Given the description of an element on the screen output the (x, y) to click on. 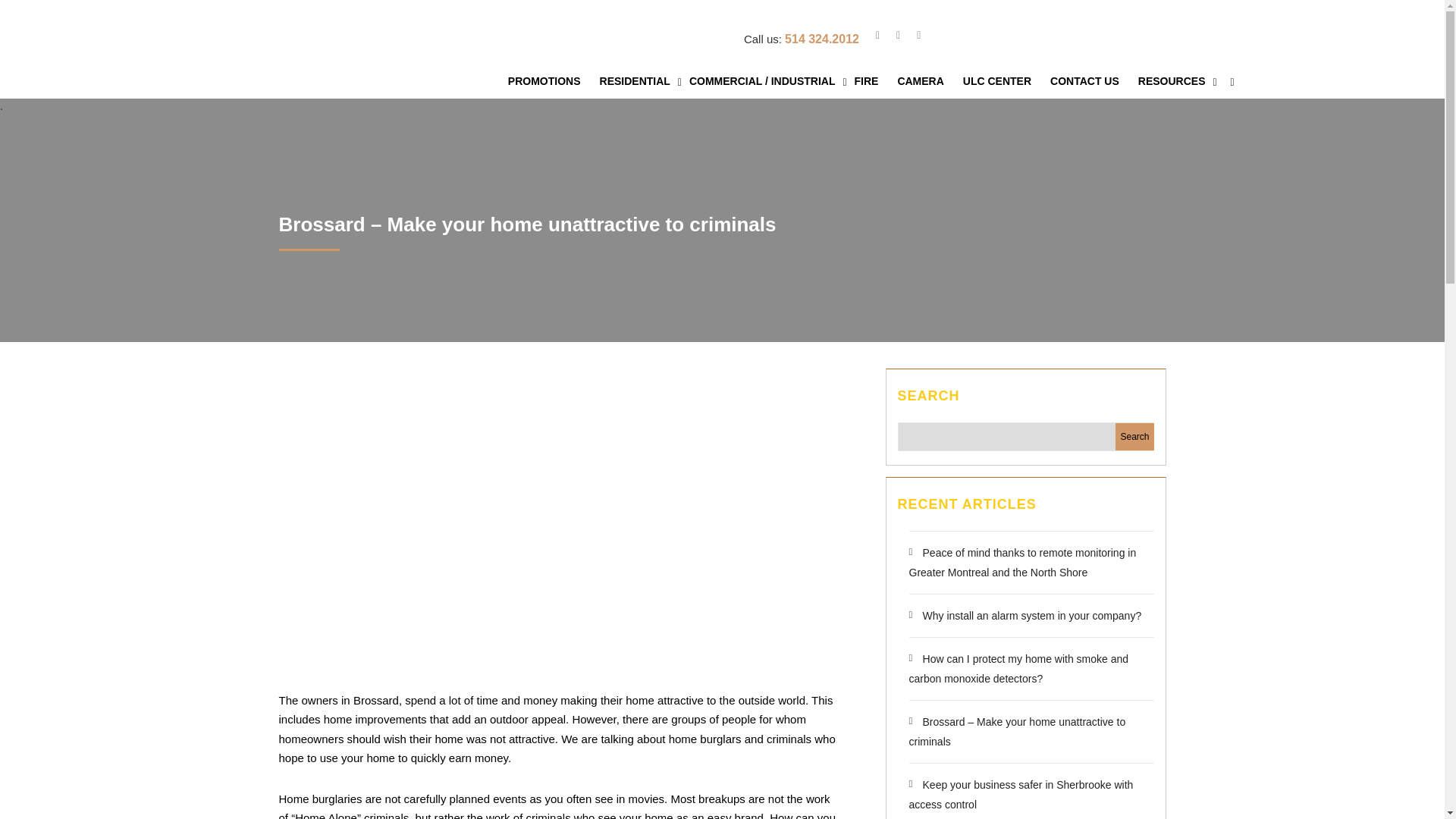
ULC CENTER (1002, 81)
RESOURCES (1177, 81)
Search (1134, 436)
FIRE (871, 81)
RESIDENTIAL (640, 81)
Keep your business safer in Sherbrooke with access control (1021, 794)
Alarme Provinciale (320, 56)
CAMERA (925, 81)
CONTACT US (1090, 81)
